Given the description of an element on the screen output the (x, y) to click on. 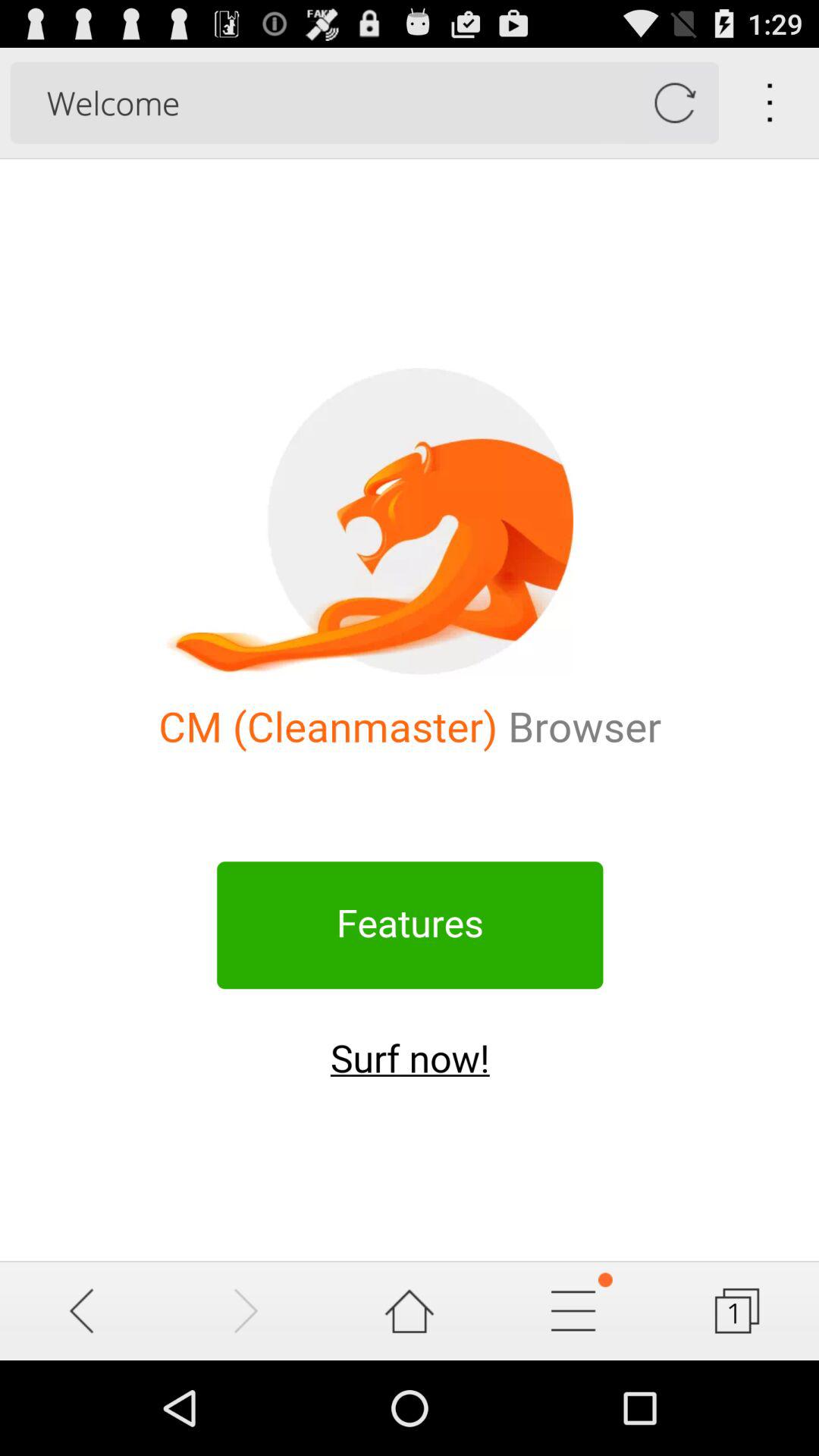
go to previous (81, 1310)
